Given the description of an element on the screen output the (x, y) to click on. 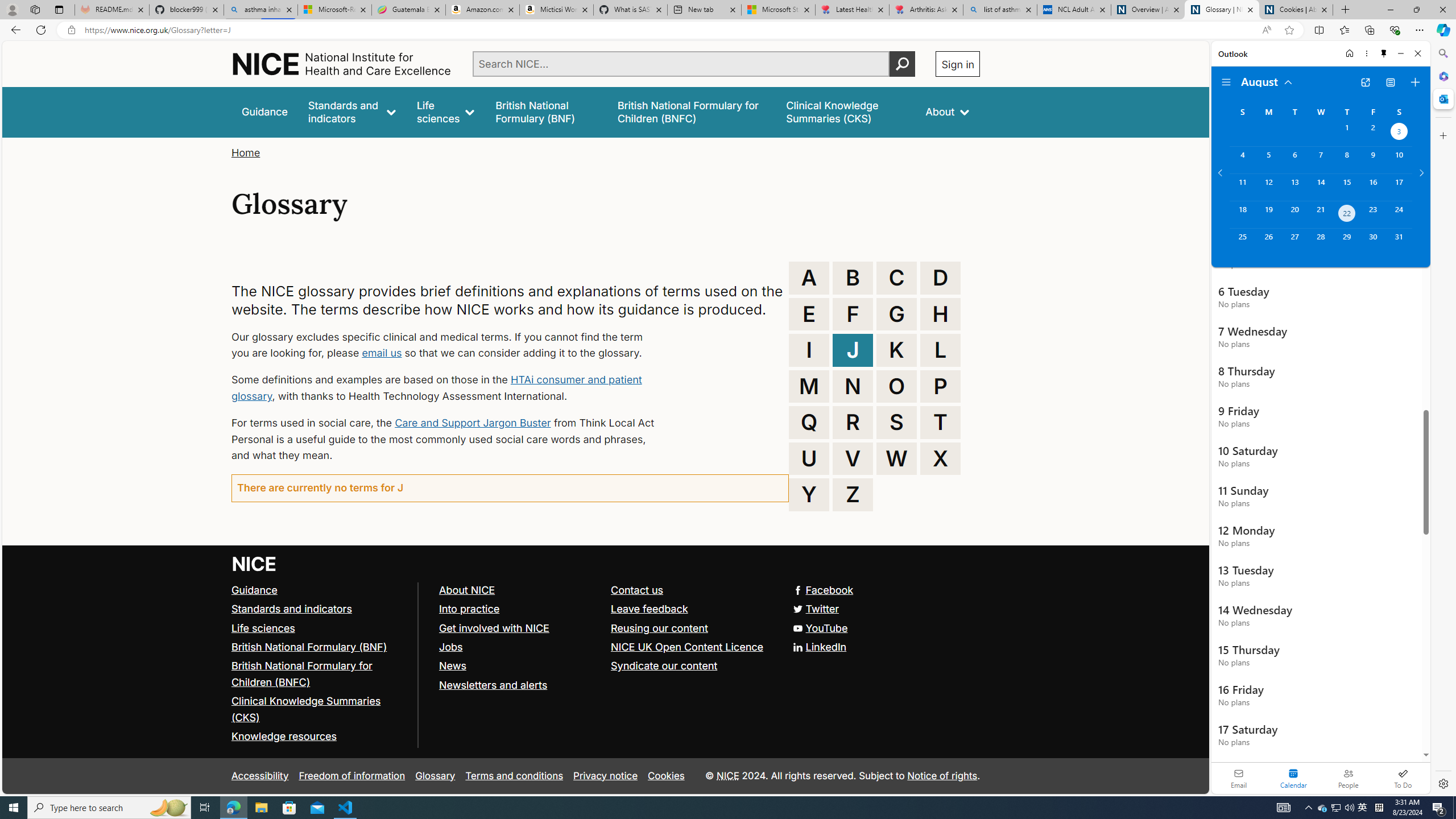
D (940, 277)
Cookies (665, 775)
Glossary (434, 775)
NICE UK Open Content Licence (687, 646)
Freedom of information (352, 775)
Thursday, August 1, 2024.  (1346, 132)
K (896, 350)
U (809, 458)
S (896, 422)
LinkedIn (605, 647)
C (896, 277)
Friday, August 9, 2024.  (1372, 159)
